Given the description of an element on the screen output the (x, y) to click on. 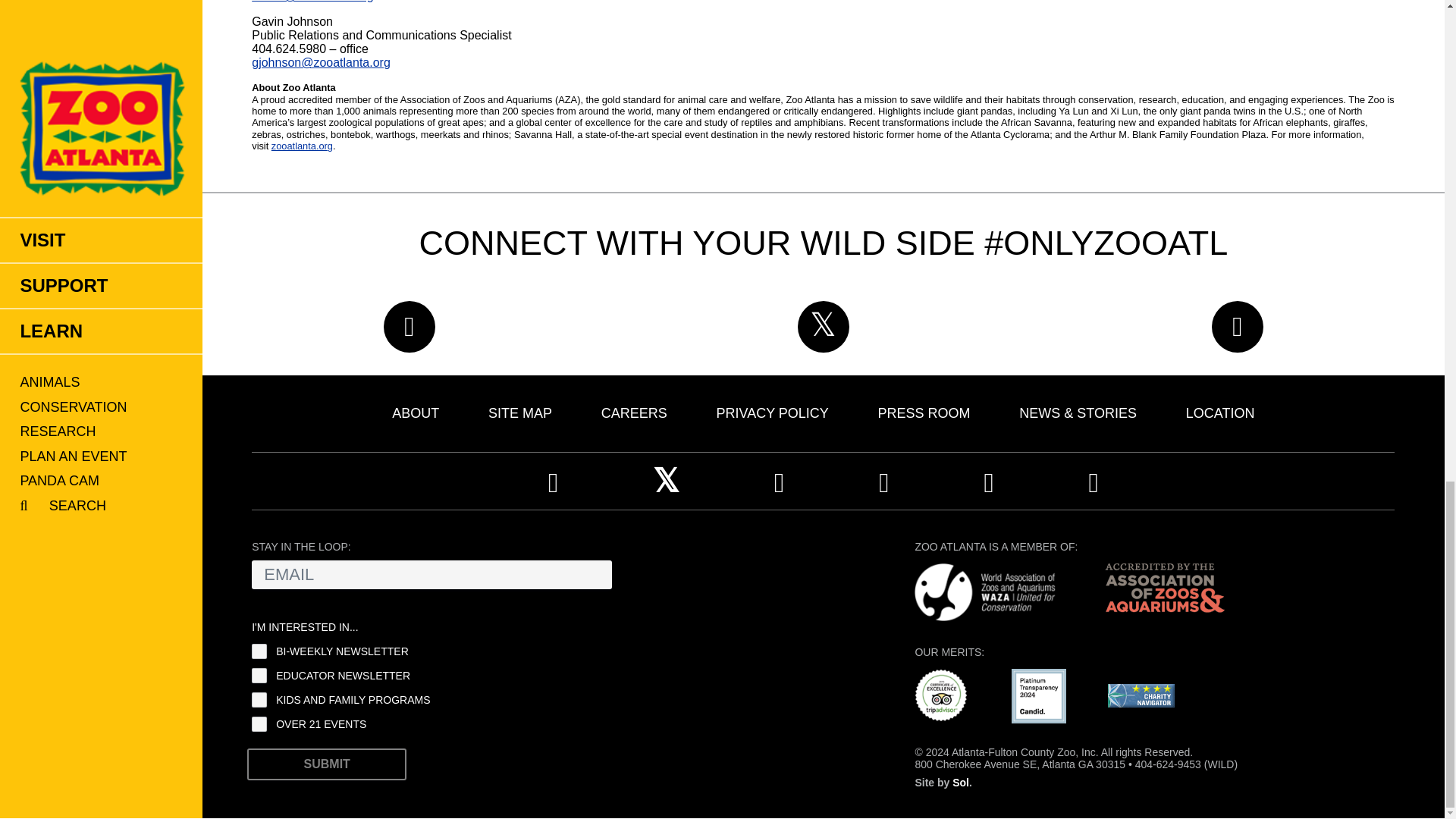
Bi-weekly Newsletter (258, 651)
Over 21 Events (258, 724)
Educator Newsletter (258, 675)
Submit (326, 764)
Kids and Family Programs (258, 699)
